Given the description of an element on the screen output the (x, y) to click on. 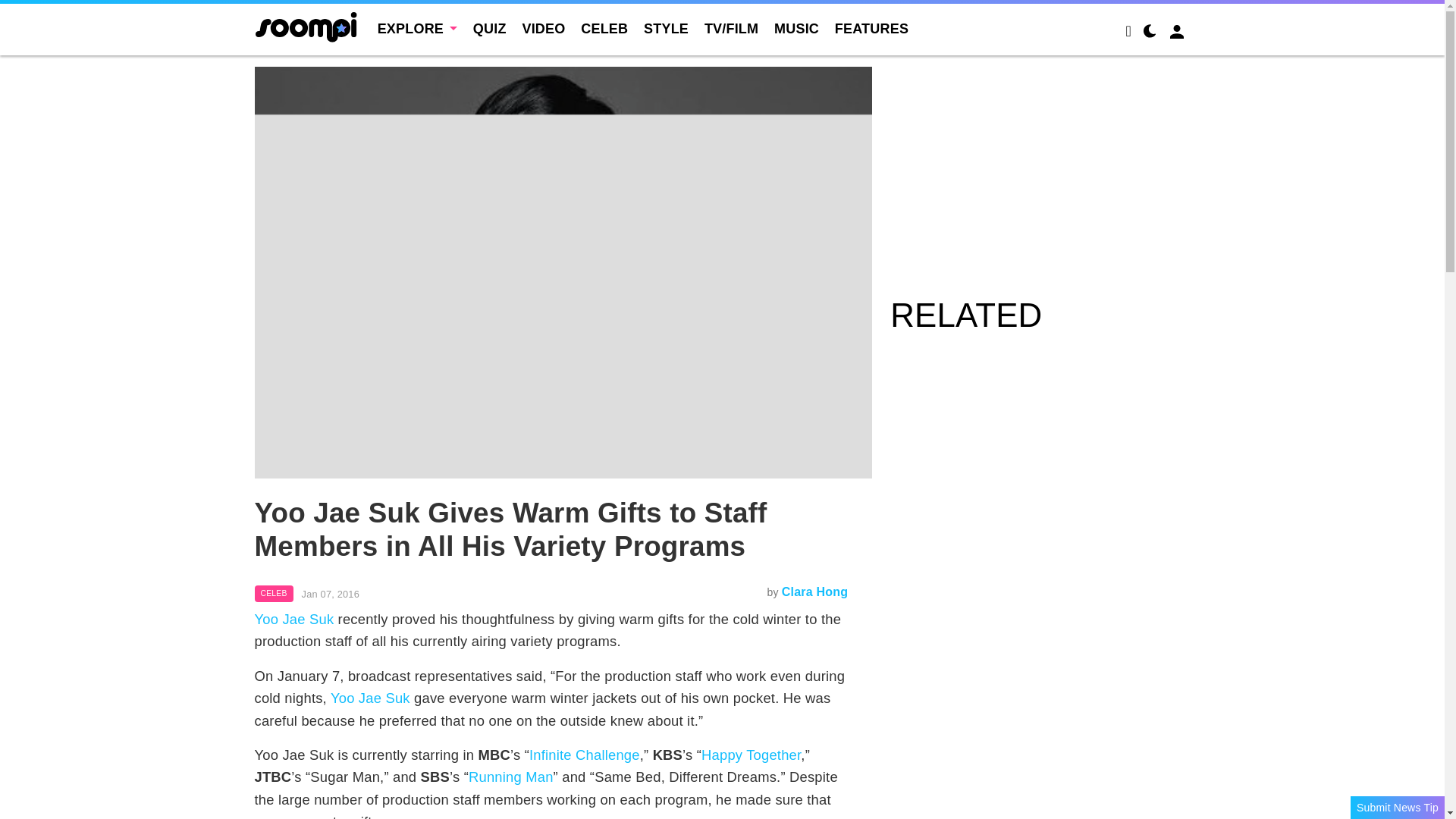
Clara Hong (814, 591)
FEATURES (871, 28)
VIDEO (542, 28)
EXPLORE (417, 28)
MUSIC (796, 28)
CELEB (603, 28)
Articles by Clara Hong (814, 591)
Night Mode Toggle (1149, 33)
Infinite Challenge (584, 754)
Yoo Jae Suk (370, 697)
Celeb (274, 593)
Happy Together (750, 754)
Running Man (510, 776)
CELEB (274, 593)
QUIZ (489, 28)
